Given the description of an element on the screen output the (x, y) to click on. 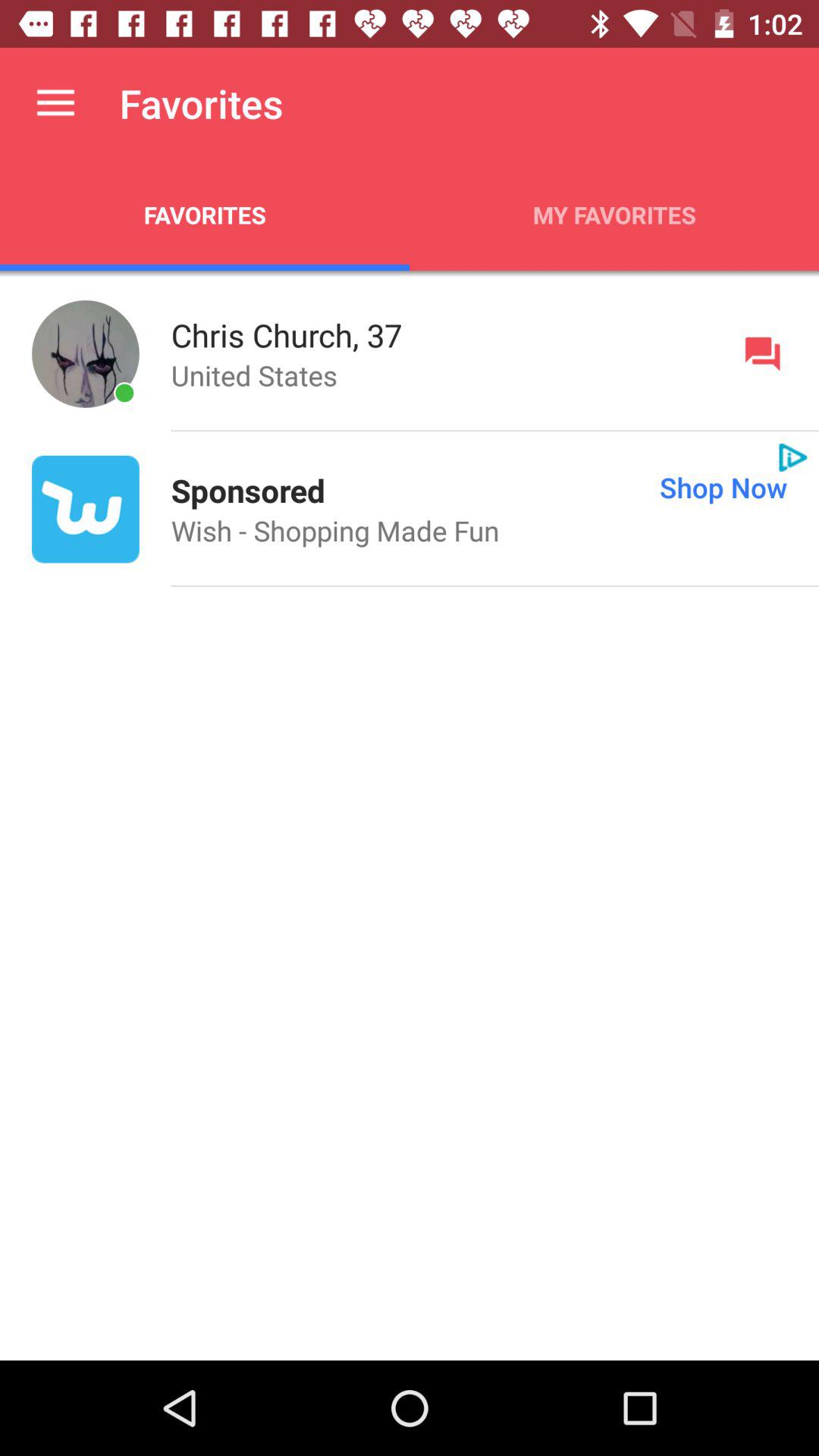
select item to the right of the favorites item (614, 214)
